Given the description of an element on the screen output the (x, y) to click on. 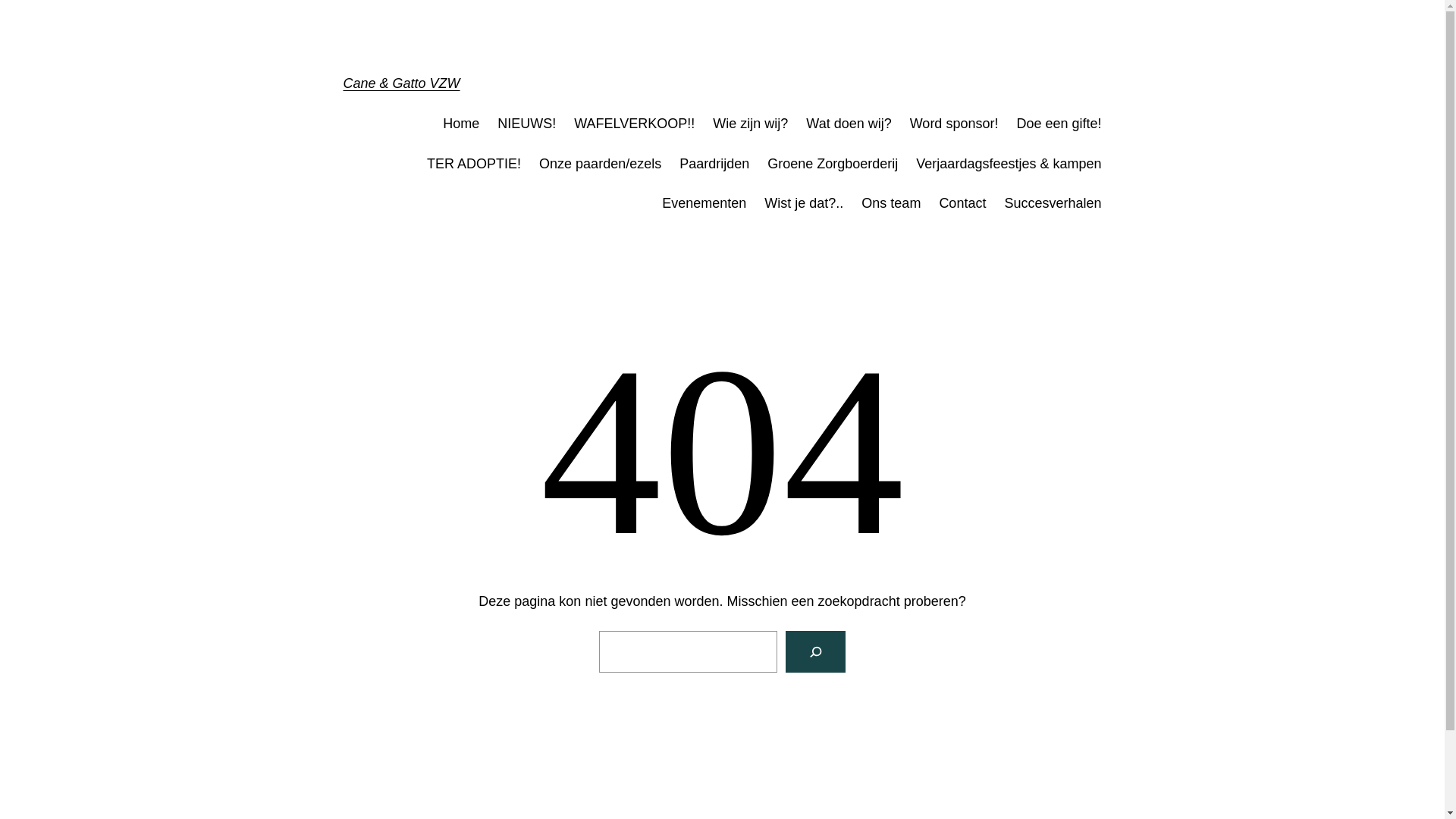
NIEUWS! Element type: text (526, 123)
Paardrijden Element type: text (714, 164)
Onze paarden/ezels Element type: text (600, 164)
Cane & Gatto VZW Element type: text (400, 83)
TER ADOPTIE! Element type: text (473, 164)
WAFELVERKOOP!! Element type: text (634, 123)
Groene Zorgboerderij Element type: text (832, 164)
Contact Element type: text (961, 203)
Doe een gifte! Element type: text (1058, 123)
Home Element type: text (460, 123)
Wist je dat?.. Element type: text (803, 203)
Ons team Element type: text (890, 203)
Succesverhalen Element type: text (1052, 203)
Verjaardagsfeestjes & kampen Element type: text (1008, 164)
Word sponsor! Element type: text (954, 123)
Wat doen wij? Element type: text (848, 123)
Wie zijn wij? Element type: text (749, 123)
Evenementen Element type: text (704, 203)
